Given the description of an element on the screen output the (x, y) to click on. 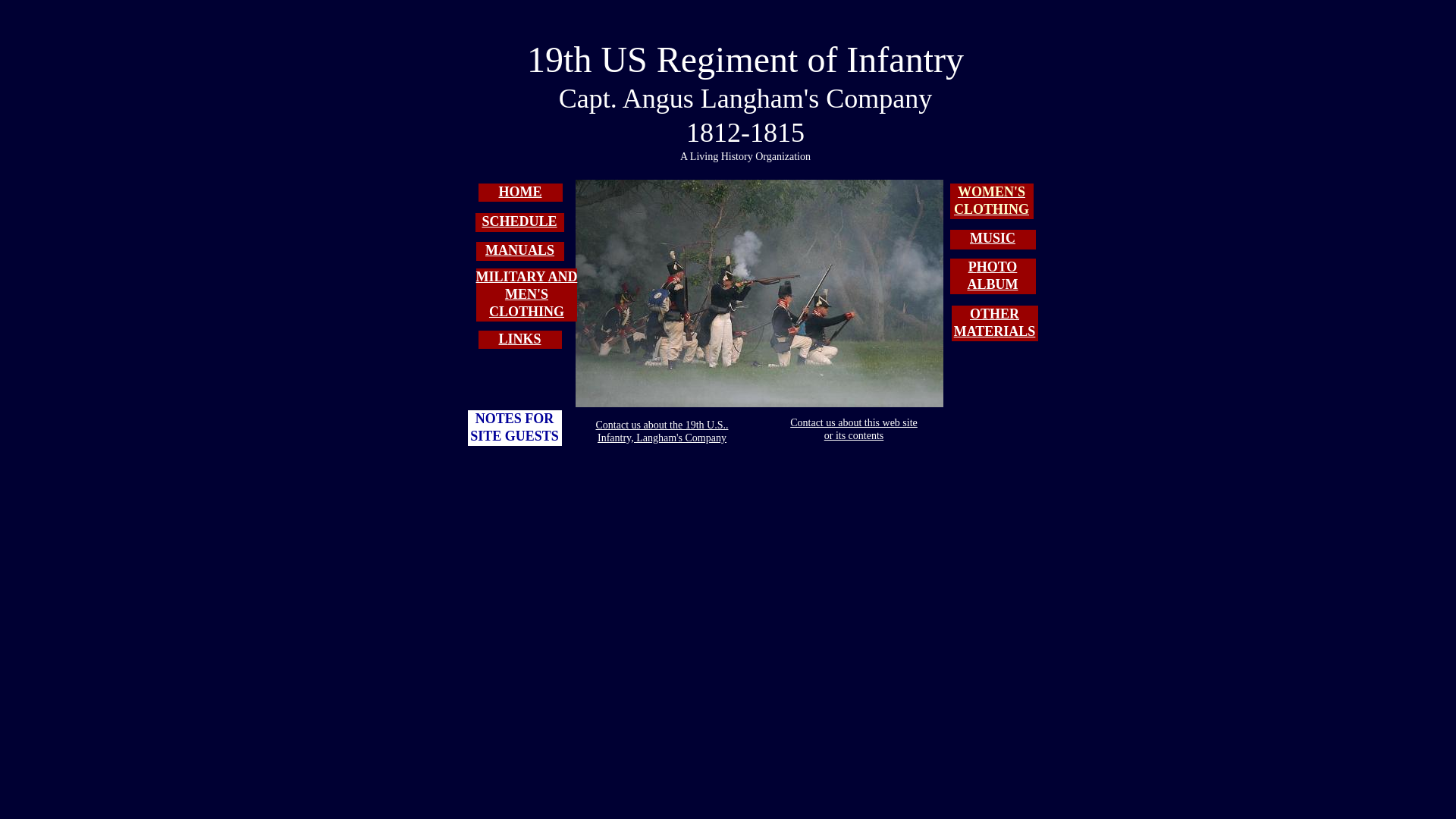
MANUALS Element type: text (519, 250)
CLOTHING Element type: text (991, 209)
CLOTHING Element type: text (526, 311)
L Element type: text (502, 338)
SITE GUESTS Element type: text (514, 435)
HOME Element type: text (520, 191)
INKS Element type: text (524, 338)
O Element type: text (974, 313)
MUSIC Element type: text (992, 238)
MILITARY Element type: text (512, 276)
Infantry, Langham's Company Element type: text (661, 436)
NOTES FOR Element type: text (514, 418)
P Element type: text (972, 266)
THER Element type: text (999, 313)
SCHEDULE Element type: text (518, 221)
AND
MEN'S Element type: text (541, 285)
Contact us about the 19th U.S.. Element type: text (662, 423)
WOMEN'S Element type: text (991, 191)
or its contents Element type: text (854, 434)
MATERIALS Element type: text (994, 331)
ALBUM Element type: text (992, 284)
HOTO Element type: text (996, 266)
Contact us about this web site Element type: text (853, 421)
